Given the description of an element on the screen output the (x, y) to click on. 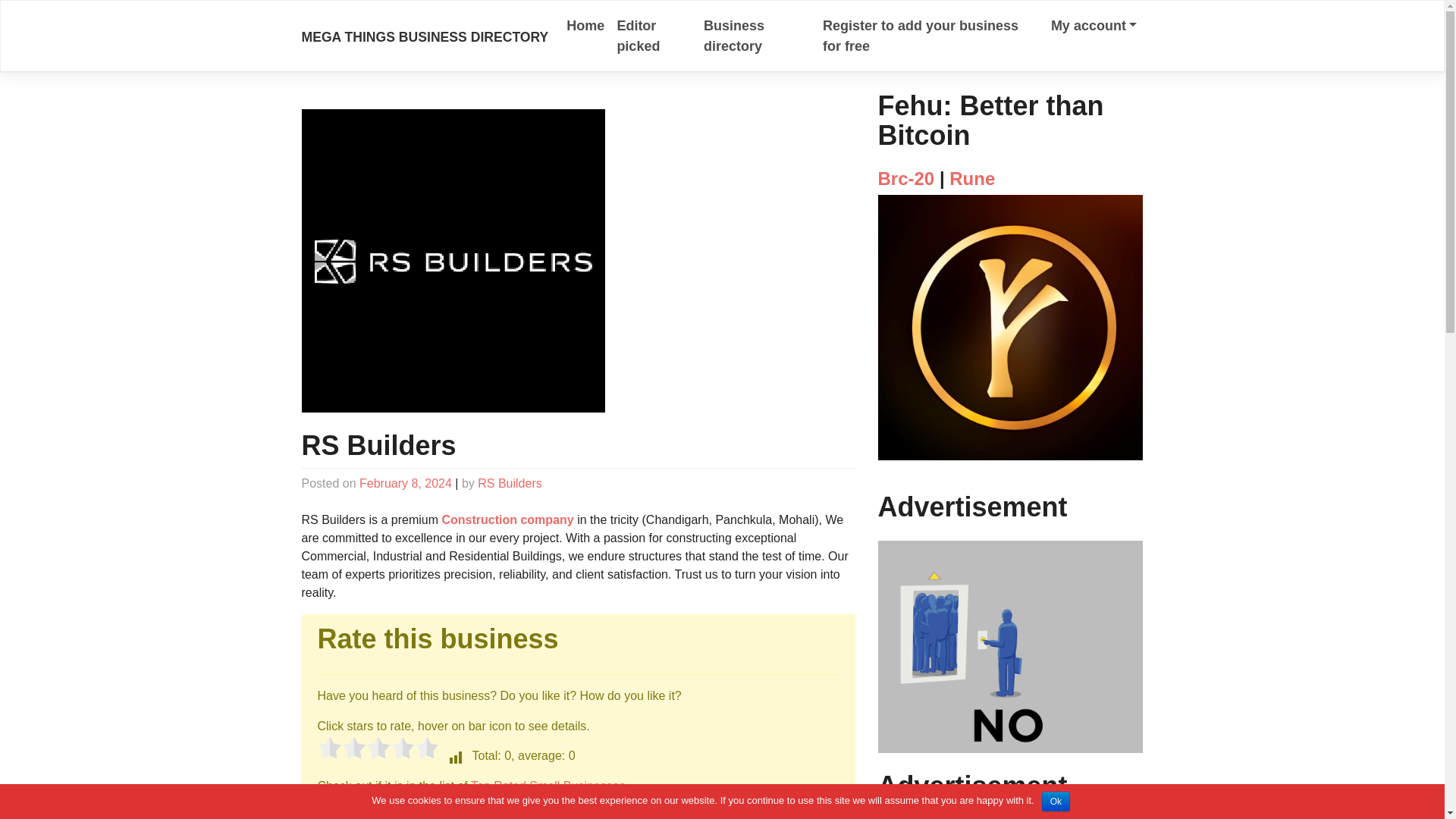
Business directory (756, 36)
MEGA THINGS BUSINESS DIRECTORY (424, 37)
February 8, 2024 (405, 482)
Home (585, 25)
Register to add your business for free (930, 36)
Editor picked (653, 36)
RS Builders (509, 482)
Brc-20 (905, 178)
Home (585, 25)
Editor picked (653, 36)
Construction company (507, 519)
Register to add your business for free (930, 36)
Top Rated Small Businesses (548, 785)
My account (1093, 25)
